Given the description of an element on the screen output the (x, y) to click on. 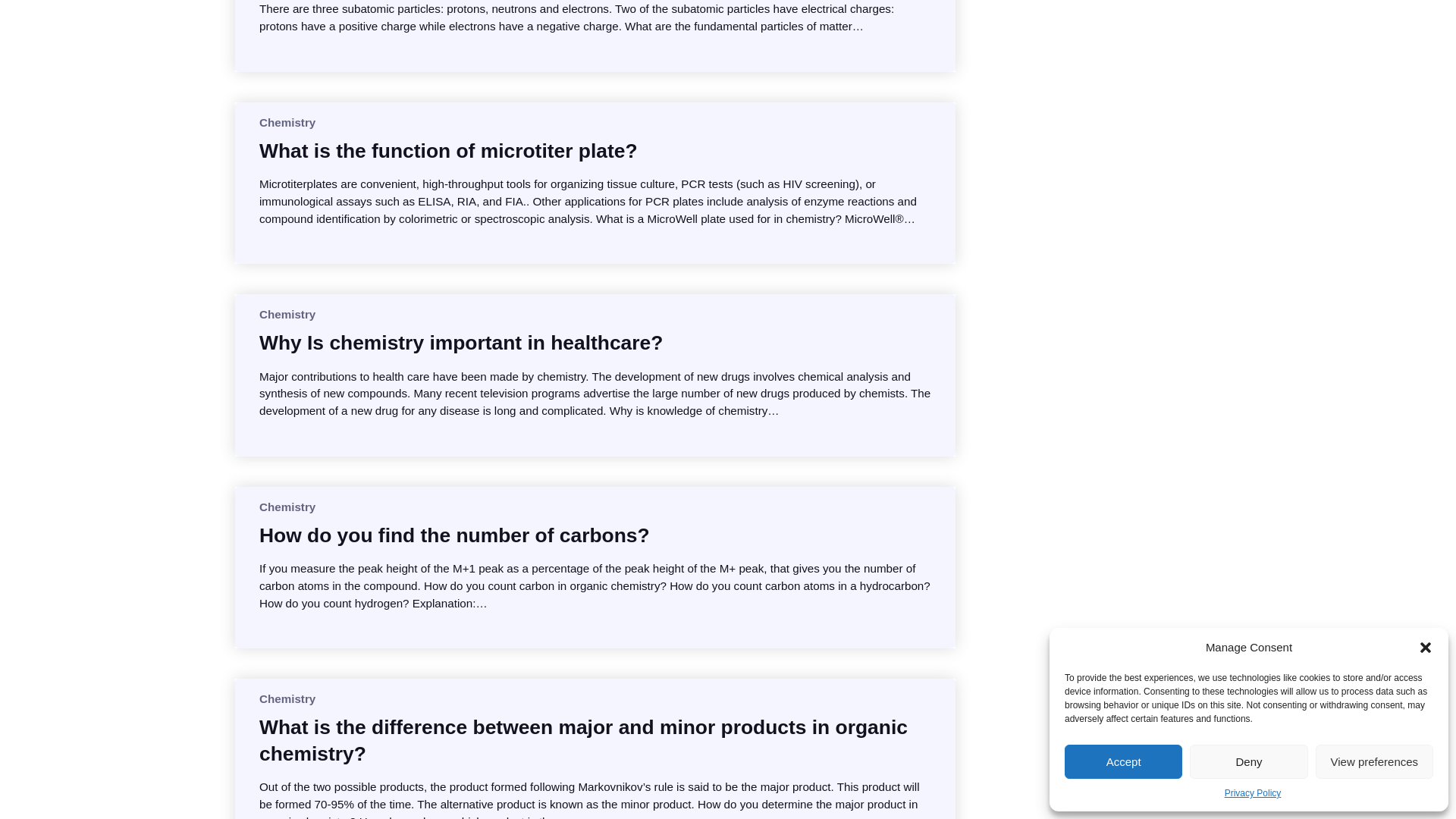
Chemistry (287, 698)
Chemistry (287, 314)
What is the function of microtiter plate? (448, 150)
Chemistry (287, 506)
How do you find the number of carbons? (454, 534)
Chemistry (287, 122)
Why Is chemistry important in healthcare? (460, 342)
